Given the description of an element on the screen output the (x, y) to click on. 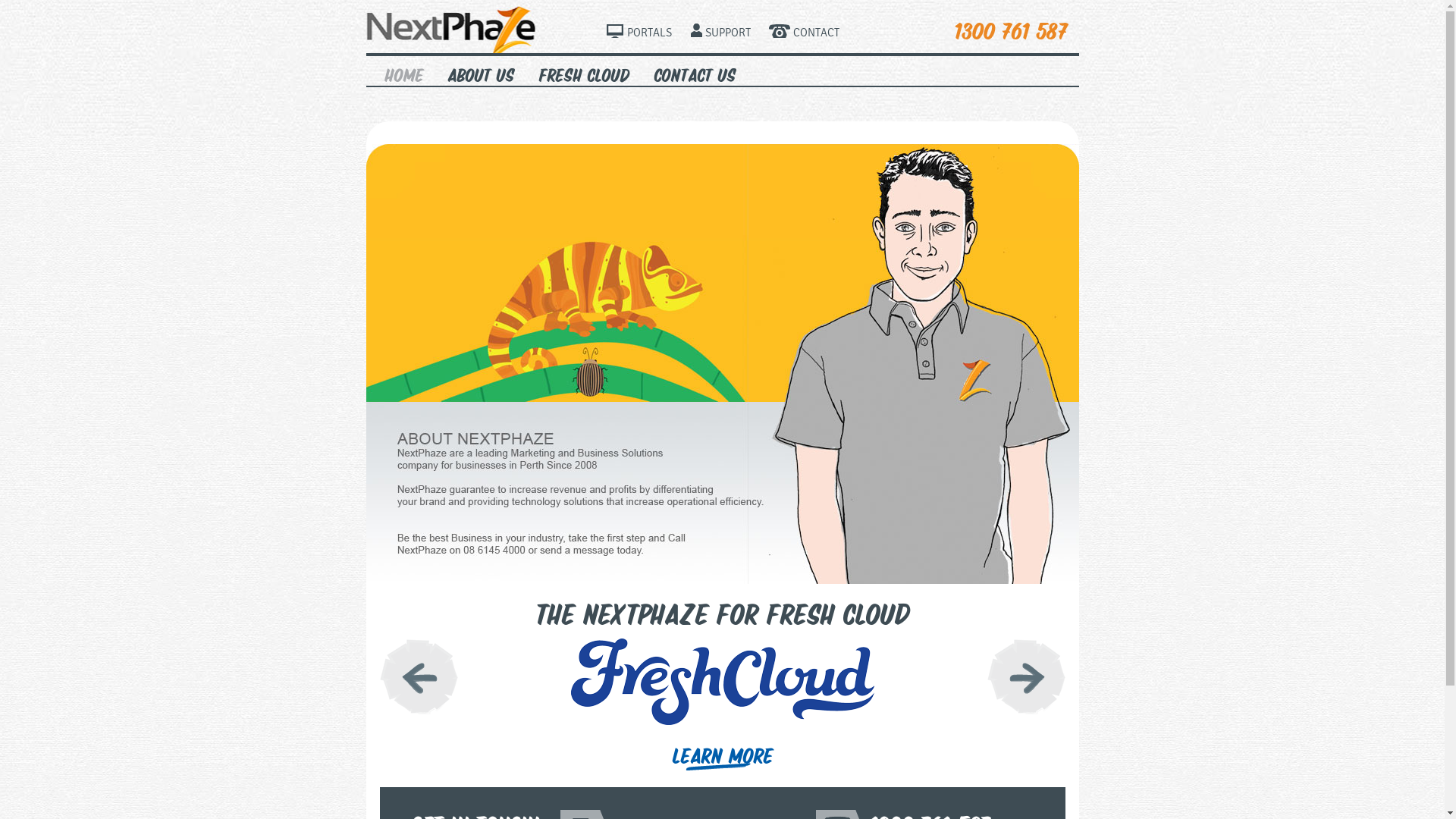
PORTALS Element type: text (638, 32)
ABOUT US Element type: text (480, 71)
CONTACT US Element type: text (694, 71)
CONTACT Element type: text (803, 32)
FRESH CLOUD Element type: text (583, 71)
Next Element type: text (1026, 676)
SUPPORT Element type: text (720, 32)
LEARN MORE Element type: text (722, 756)
Previous Element type: text (418, 676)
HOME Element type: text (403, 71)
